Given the description of an element on the screen output the (x, y) to click on. 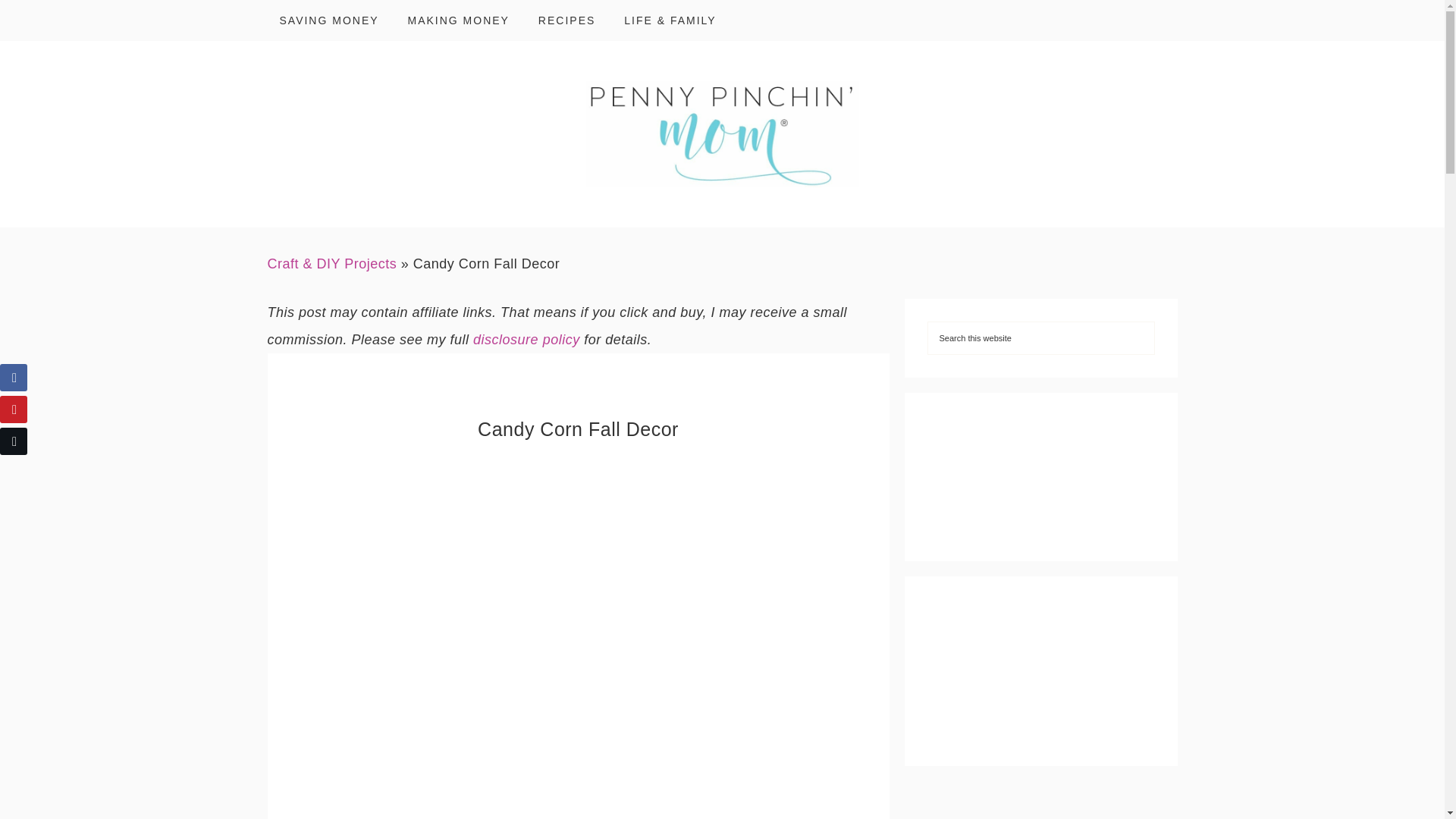
MAKING MONEY (457, 20)
disclosure policy (526, 339)
PENNY PINCHIN' MOM (722, 134)
SAVING MONEY (328, 20)
RECIPES (566, 20)
